Given the description of an element on the screen output the (x, y) to click on. 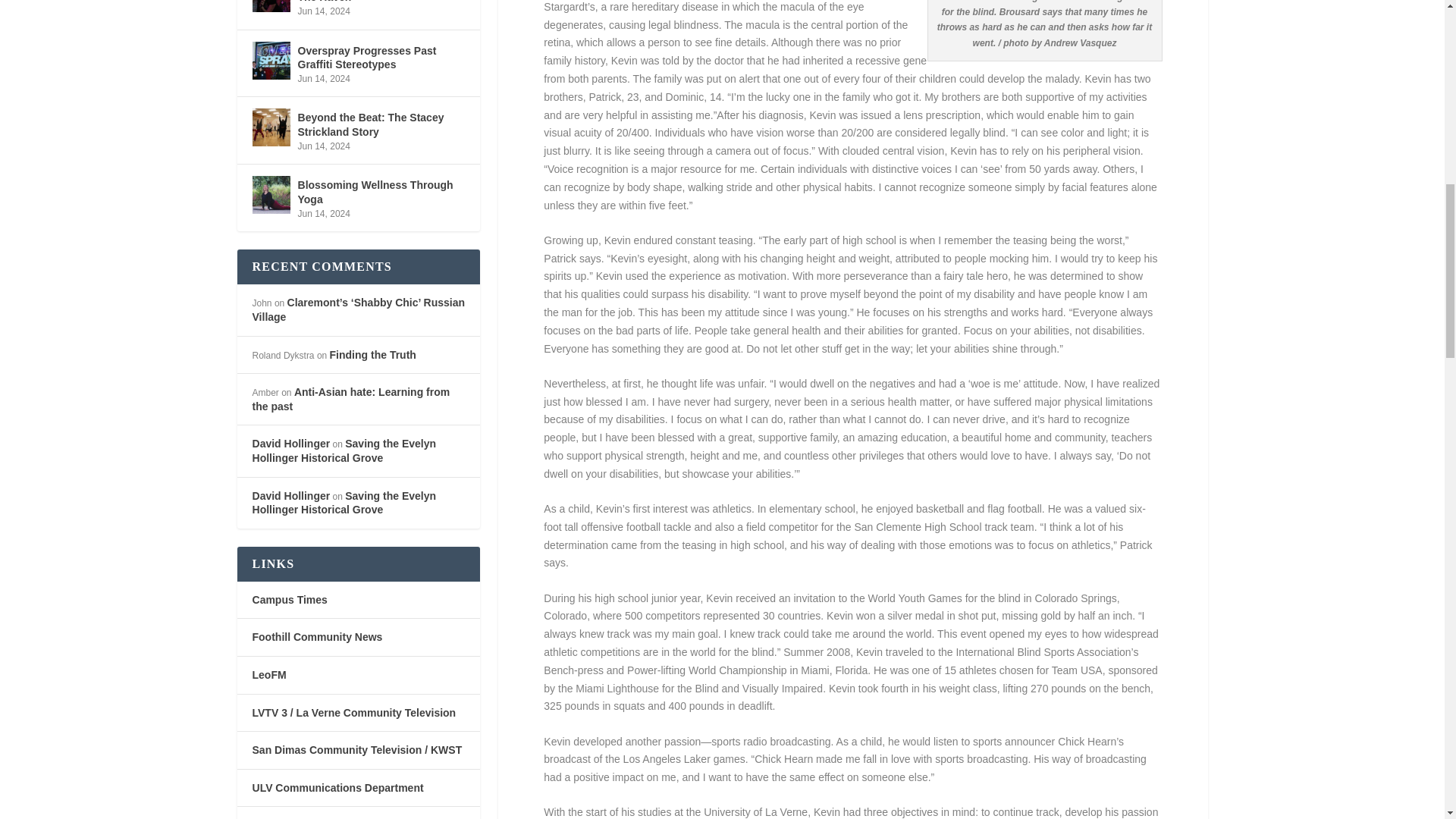
Making Music and Memories at The Haven (270, 6)
Overspray Progresses Past Graffiti Stereotypes (270, 59)
